Given the description of an element on the screen output the (x, y) to click on. 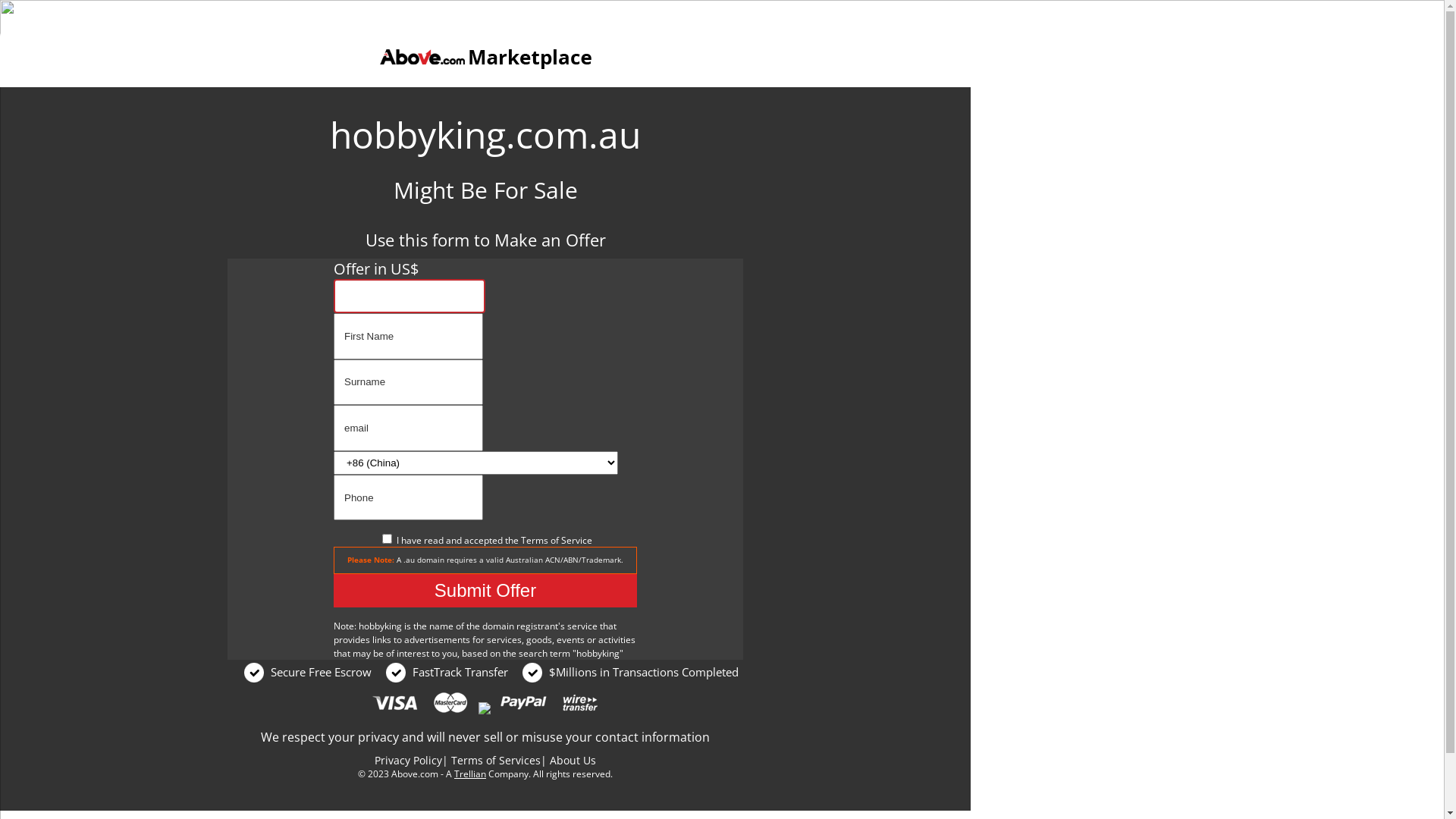
Terms of Services Element type: text (495, 760)
About Us Element type: text (572, 760)
Trellian Element type: text (470, 773)
Privacy Policy Element type: text (408, 760)
Submit Offer Element type: text (485, 590)
Terms Element type: text (533, 539)
